Given the description of an element on the screen output the (x, y) to click on. 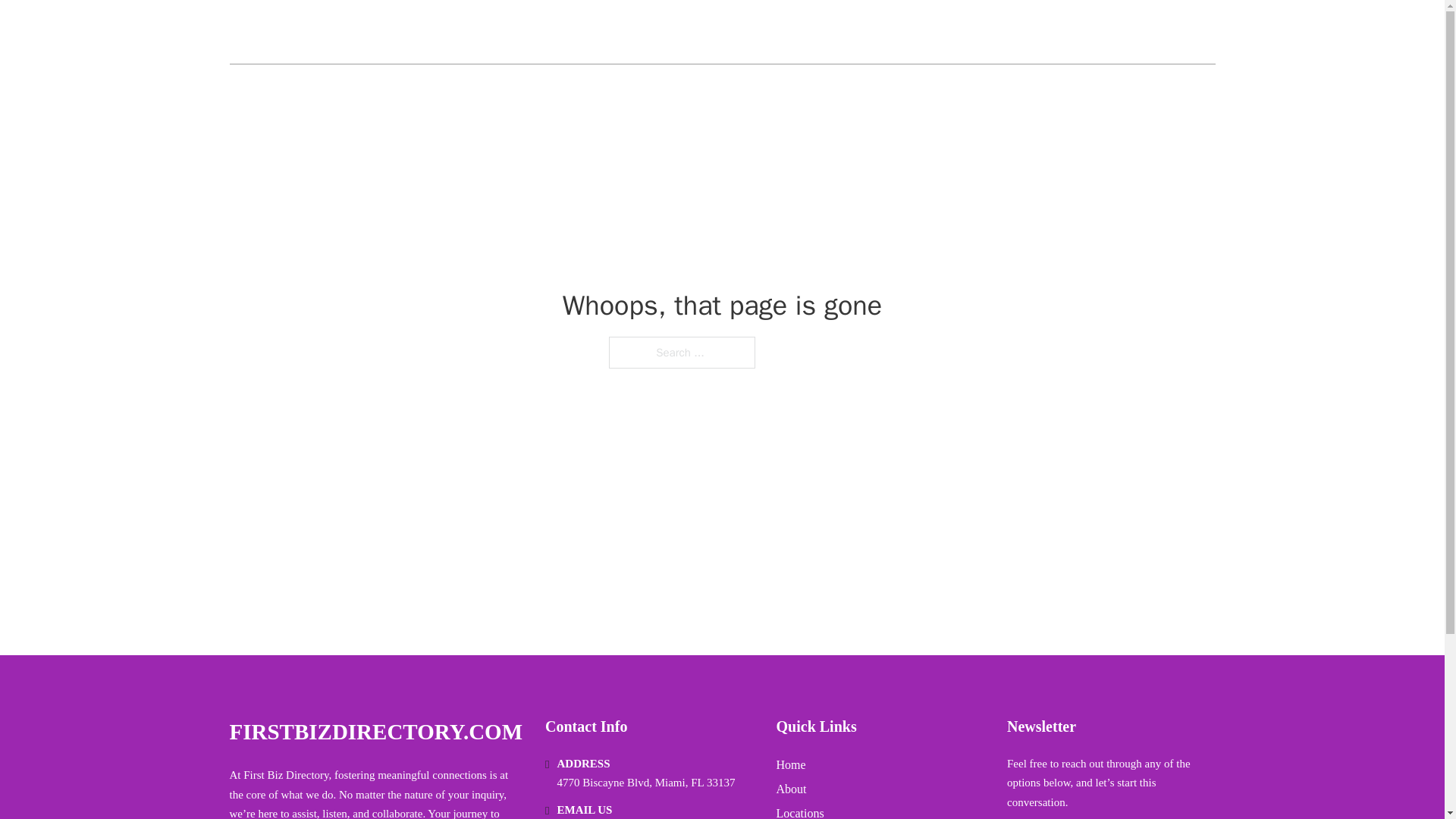
FIRSTBIZDIRECTORY.COM (390, 31)
HOME (1032, 31)
Home (791, 764)
About (791, 788)
FIRSTBIZDIRECTORY.COM (375, 732)
Locations (800, 811)
LOCATIONS (1105, 31)
